Given the description of an element on the screen output the (x, y) to click on. 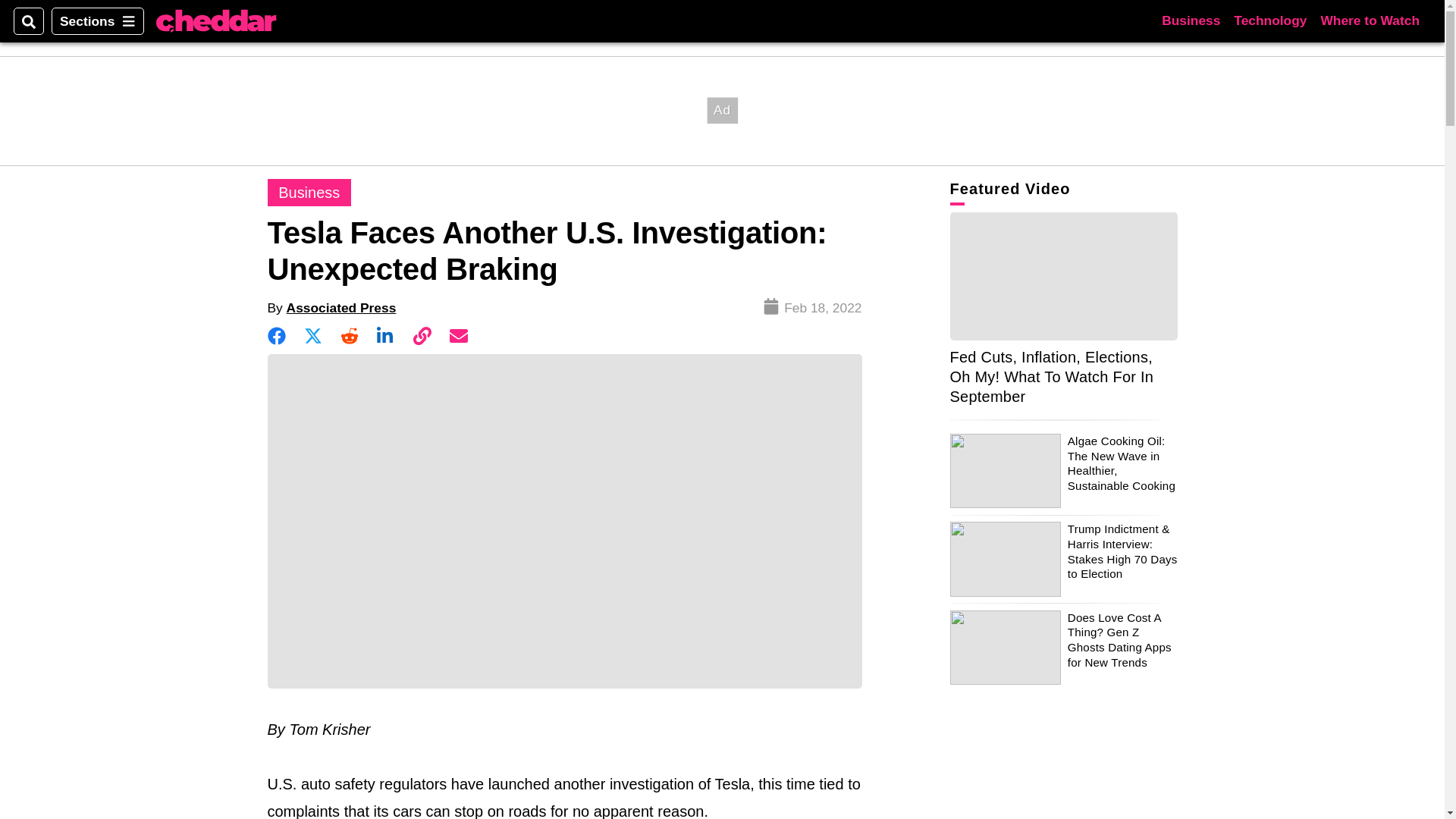
Where to Watch (1369, 20)
Business (308, 192)
Business (1190, 20)
Associated Press (341, 307)
Technology (1269, 20)
Sections (97, 21)
Cheddar Logo (215, 21)
